Given the description of an element on the screen output the (x, y) to click on. 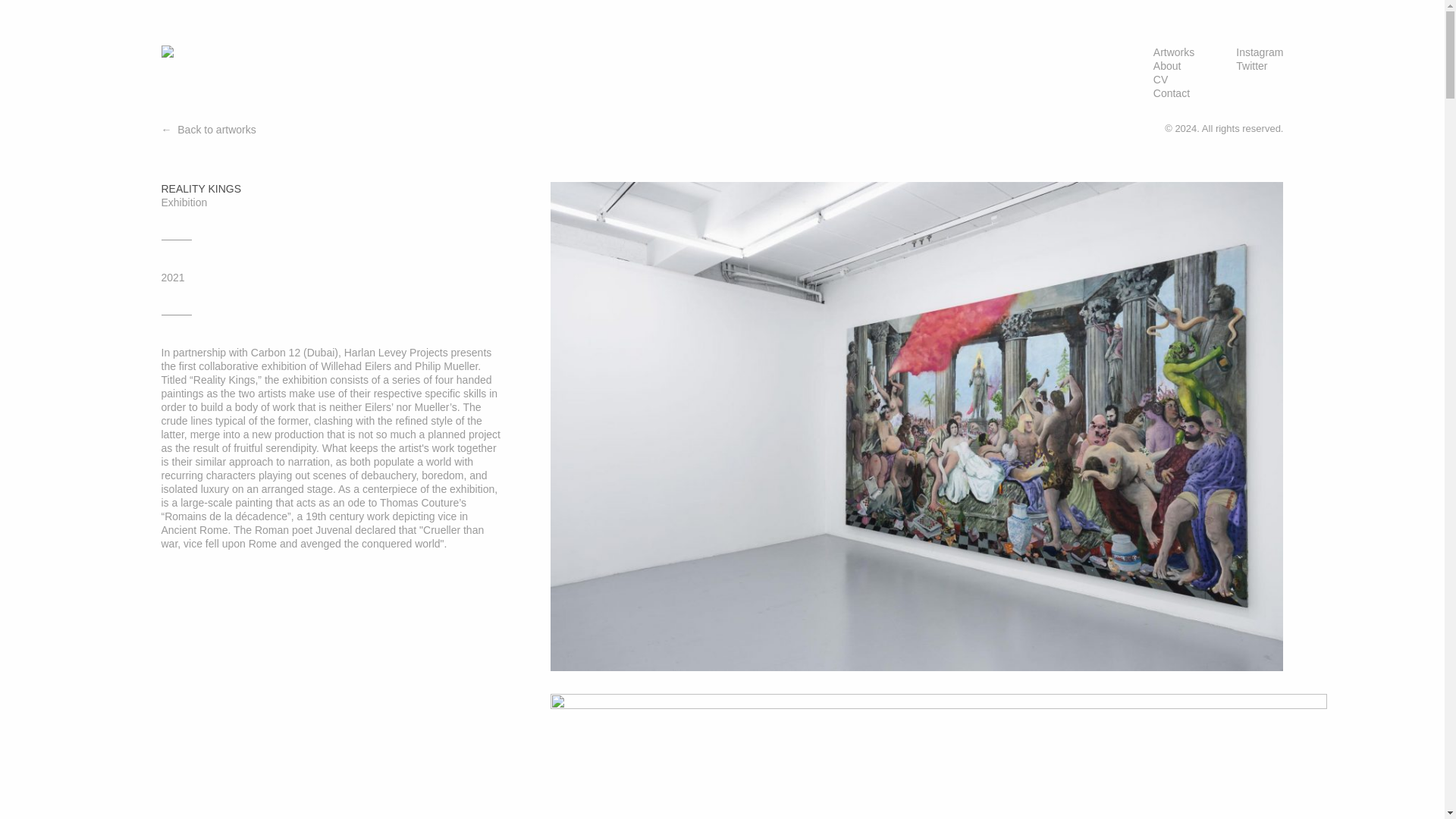
Instagram (1259, 51)
Contact (1173, 92)
About (1173, 65)
Artworks (1173, 51)
CV (1173, 79)
Twitter (1259, 65)
